Given the description of an element on the screen output the (x, y) to click on. 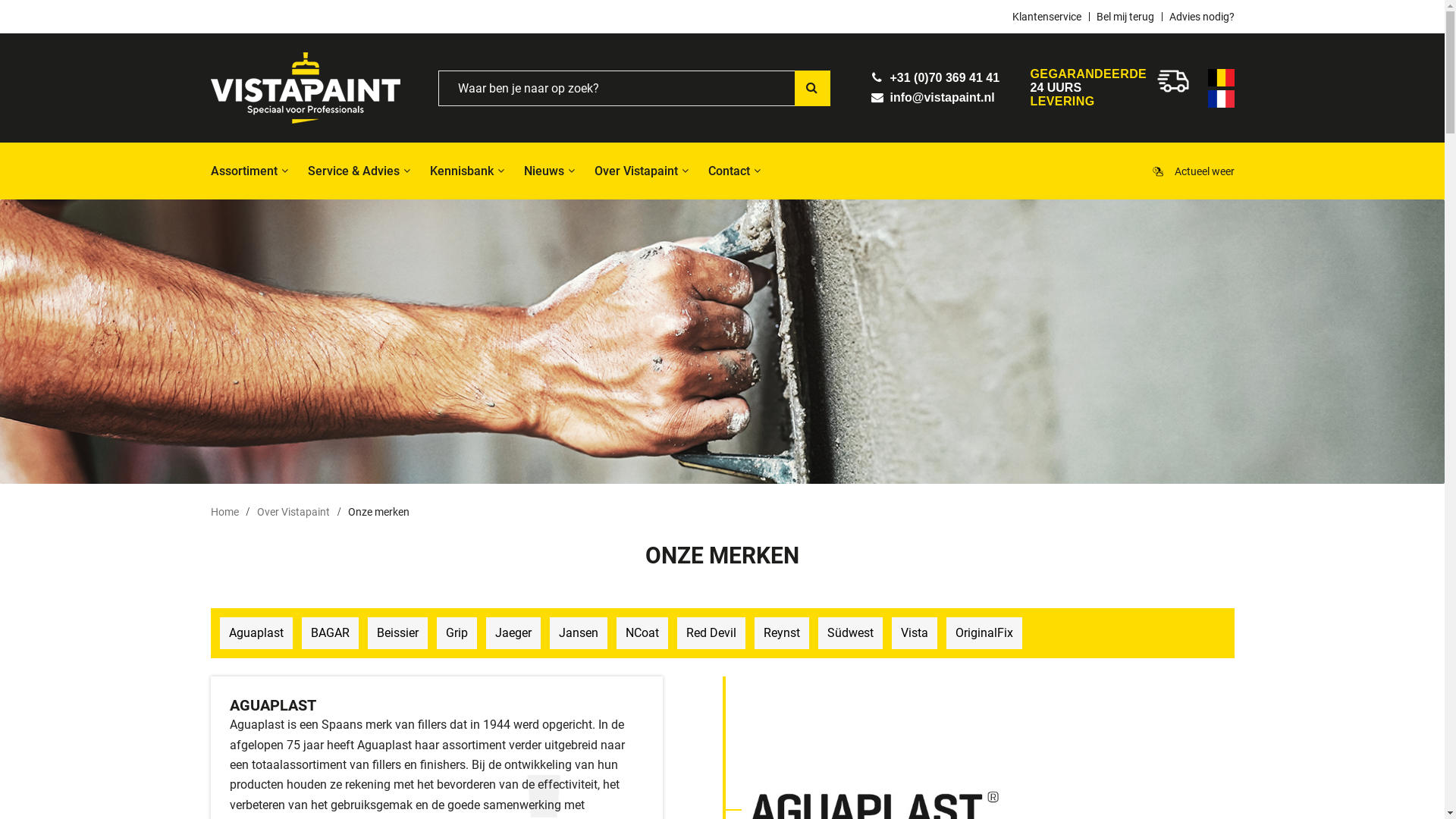
Red Devil Element type: text (710, 633)
BE / NL Element type: hover (1220, 76)
Grip Element type: text (456, 633)
Advies nodig? Element type: text (1197, 16)
Onze merken Element type: text (378, 511)
Klantenservice Element type: text (1049, 16)
  +31 (0)70 369 41 41 Element type: text (934, 77)
Over Vistapaint Element type: text (294, 511)
BAGAR Element type: text (329, 633)
Over Vistapaint Element type: text (636, 170)
Assortiment Element type: text (251, 170)
Bel mij terug Element type: text (1124, 16)
Jansen Element type: text (577, 633)
Kennisbank Element type: text (461, 170)
Aguaplast Element type: text (255, 633)
BE / FR Element type: hover (1220, 97)
Home Element type: text (229, 511)
Actueel weer Element type: text (1203, 171)
Nieuws Element type: text (543, 170)
Jaeger Element type: text (512, 633)
Service & Advies Element type: text (353, 170)
Contact Element type: text (729, 170)
GEGARANDEERDE
24 UURS LEVERING Element type: text (1087, 87)
Vista Element type: text (914, 633)
OriginalFix Element type: text (984, 633)
NCoat Element type: text (641, 633)
Beissier Element type: text (396, 633)
Logo Vistapaint Element type: hover (305, 87)
Reynst Element type: text (780, 633)
  info@vistapaint.nl Element type: text (932, 97)
